Given the description of an element on the screen output the (x, y) to click on. 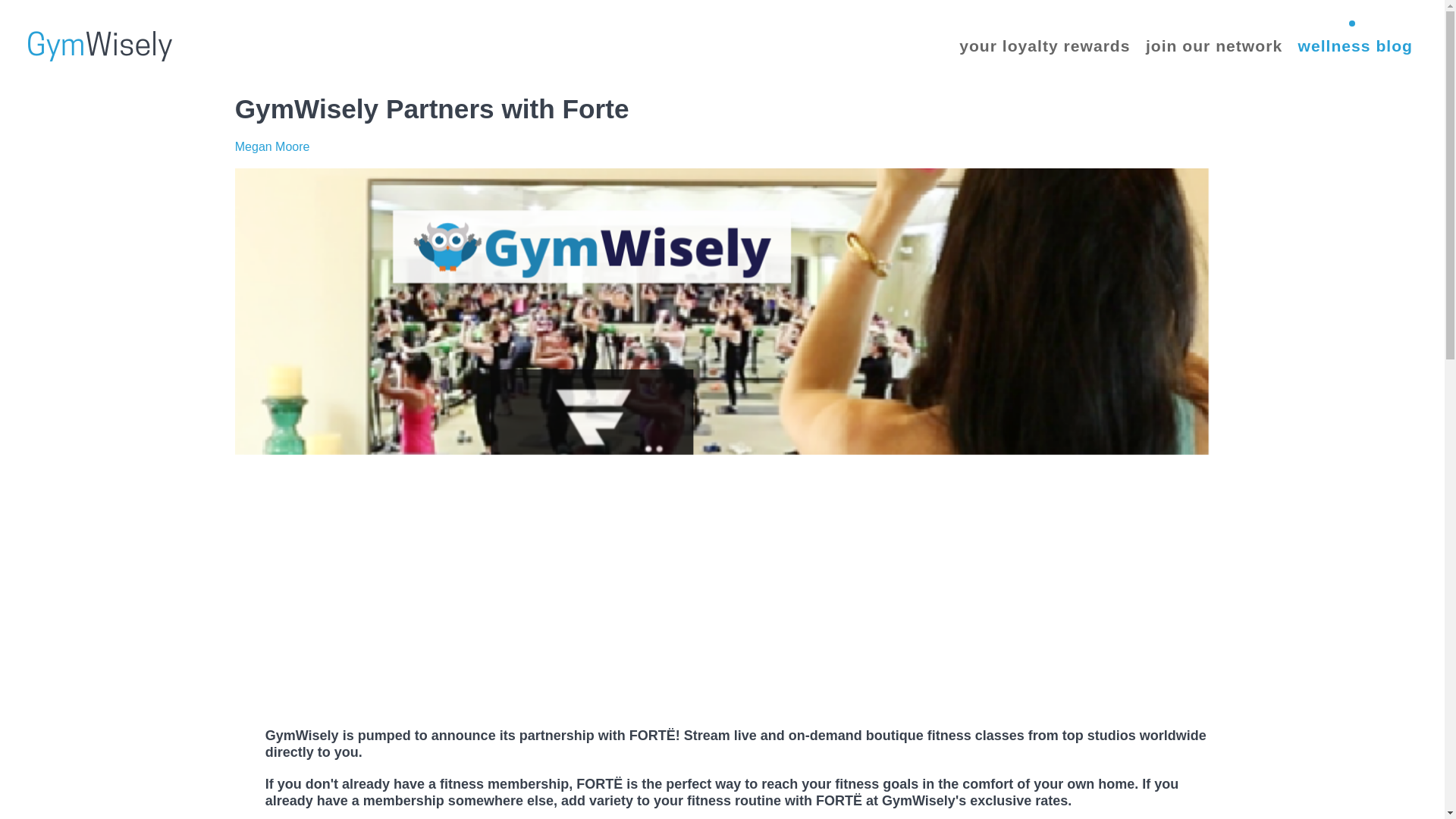
Join Us (1214, 44)
Megan Moore (272, 146)
wellness blog (1355, 44)
your loyalty rewards (1044, 44)
Wellness Loyalty Rewards (101, 43)
join our network (1214, 44)
Wellness News, Trends and Tips (1355, 44)
